Given the description of an element on the screen output the (x, y) to click on. 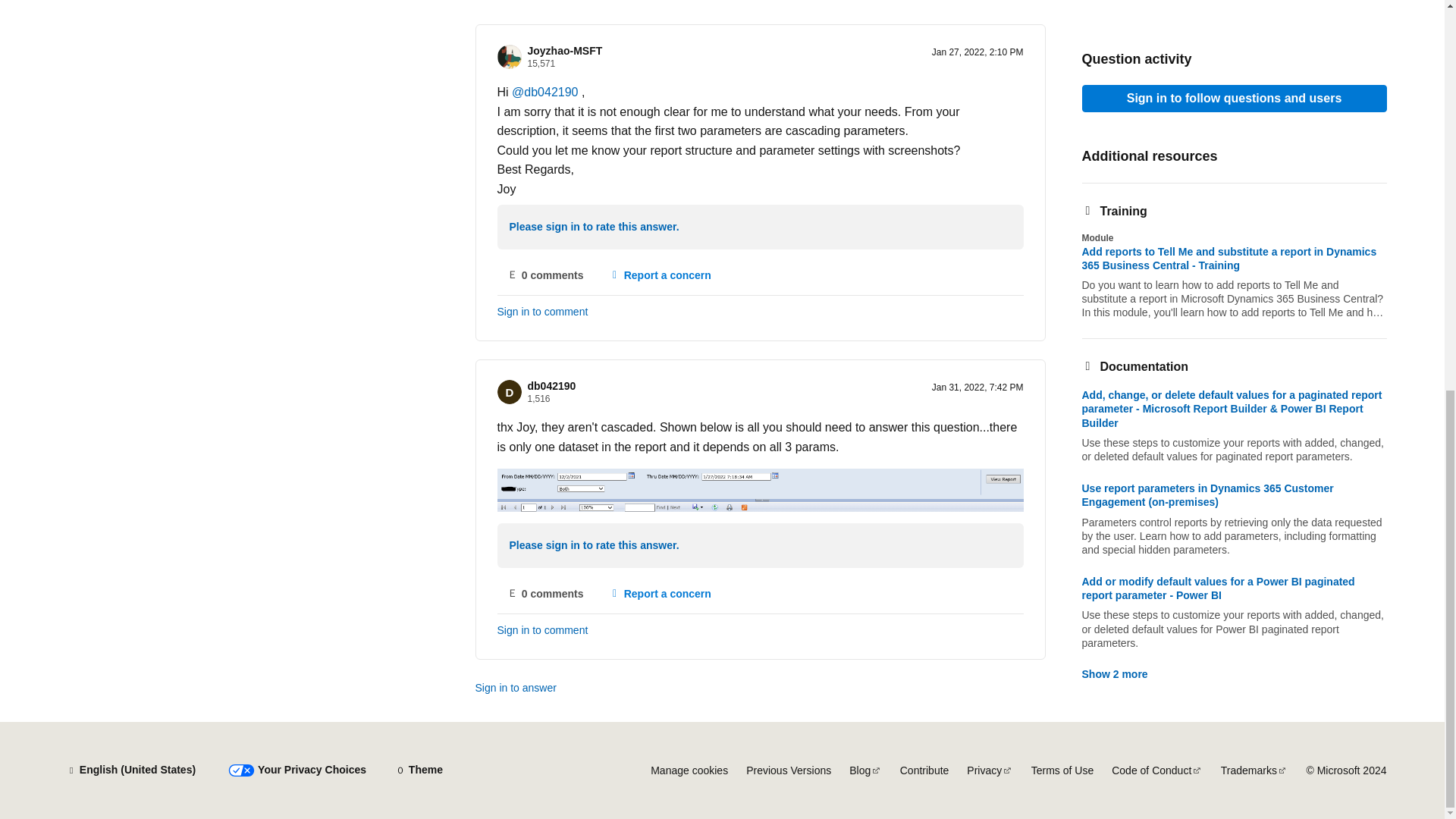
No comments (545, 275)
Reputation points (538, 398)
Reputation points (541, 63)
Report a concern (659, 275)
No comments (545, 593)
Report a concern (659, 593)
